Given the description of an element on the screen output the (x, y) to click on. 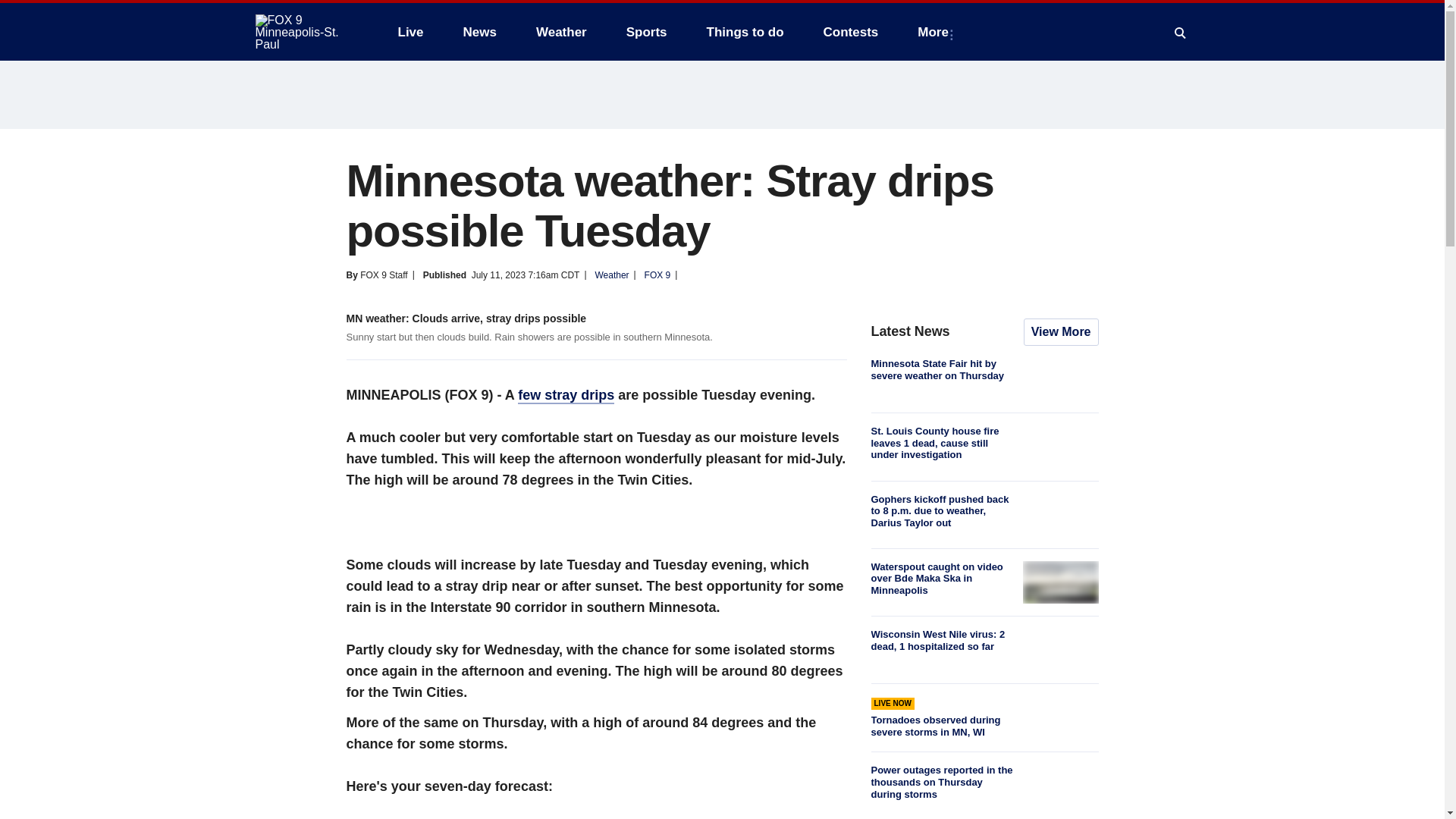
Weather (561, 32)
Live (410, 32)
Things to do (745, 32)
News (479, 32)
More (935, 32)
Sports (646, 32)
Contests (850, 32)
